Given the description of an element on the screen output the (x, y) to click on. 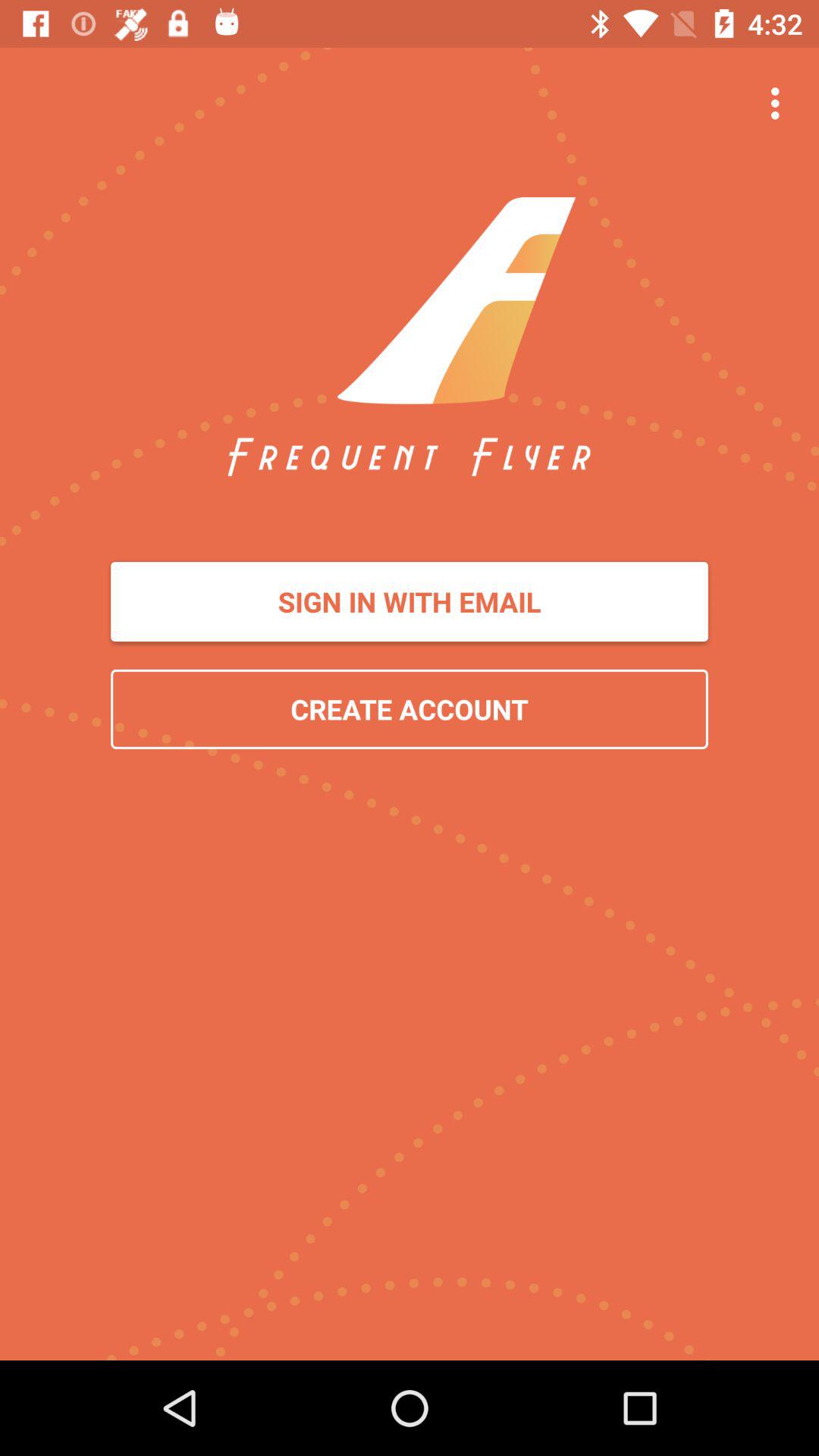
turn on the icon above the create account item (409, 601)
